Given the description of an element on the screen output the (x, y) to click on. 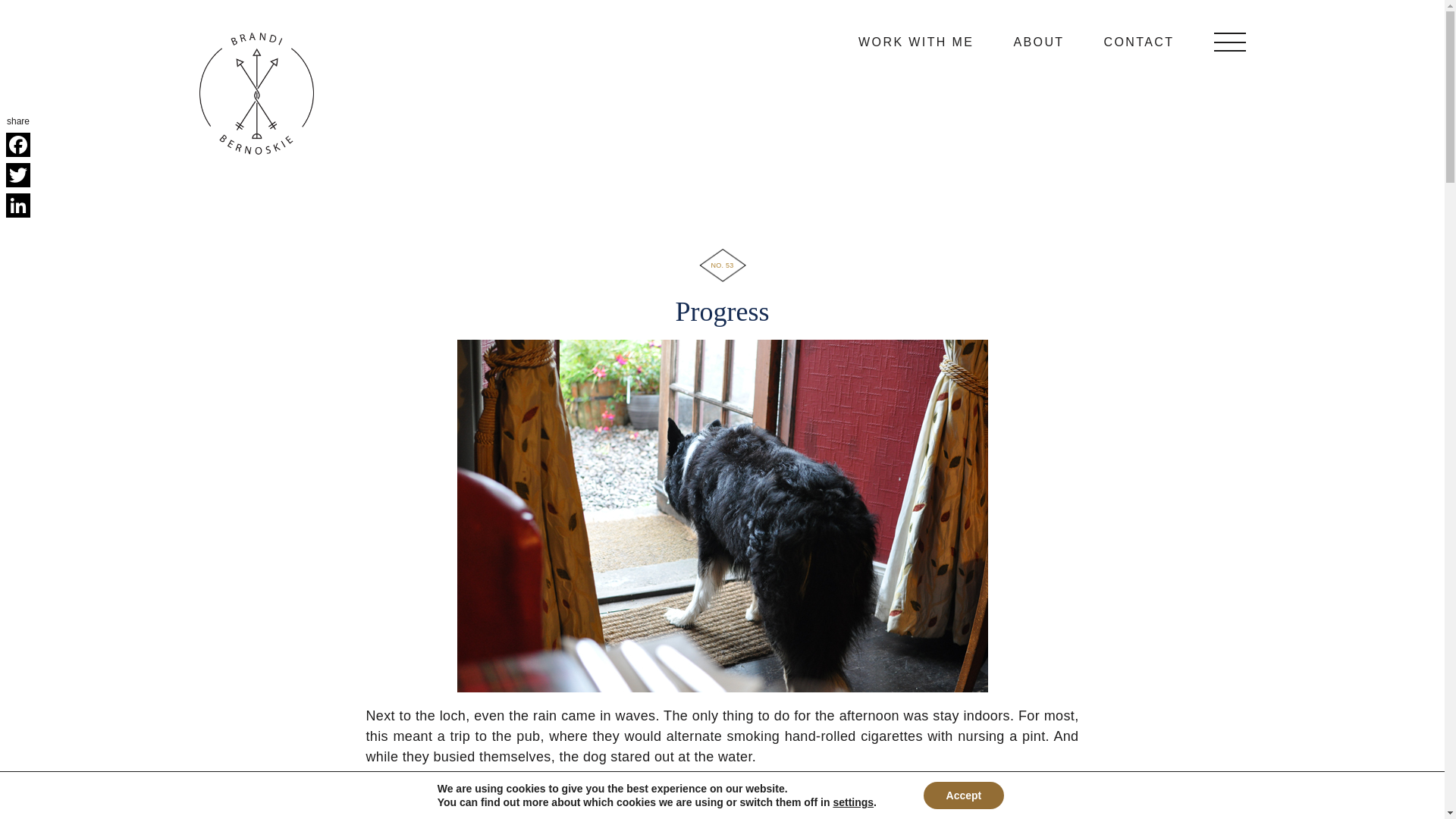
LinkedIn (17, 205)
Facebook (17, 144)
Twitter (17, 174)
WORK WITH ME (916, 41)
CONTACT (1138, 41)
ABOUT (1038, 41)
